Given the description of an element on the screen output the (x, y) to click on. 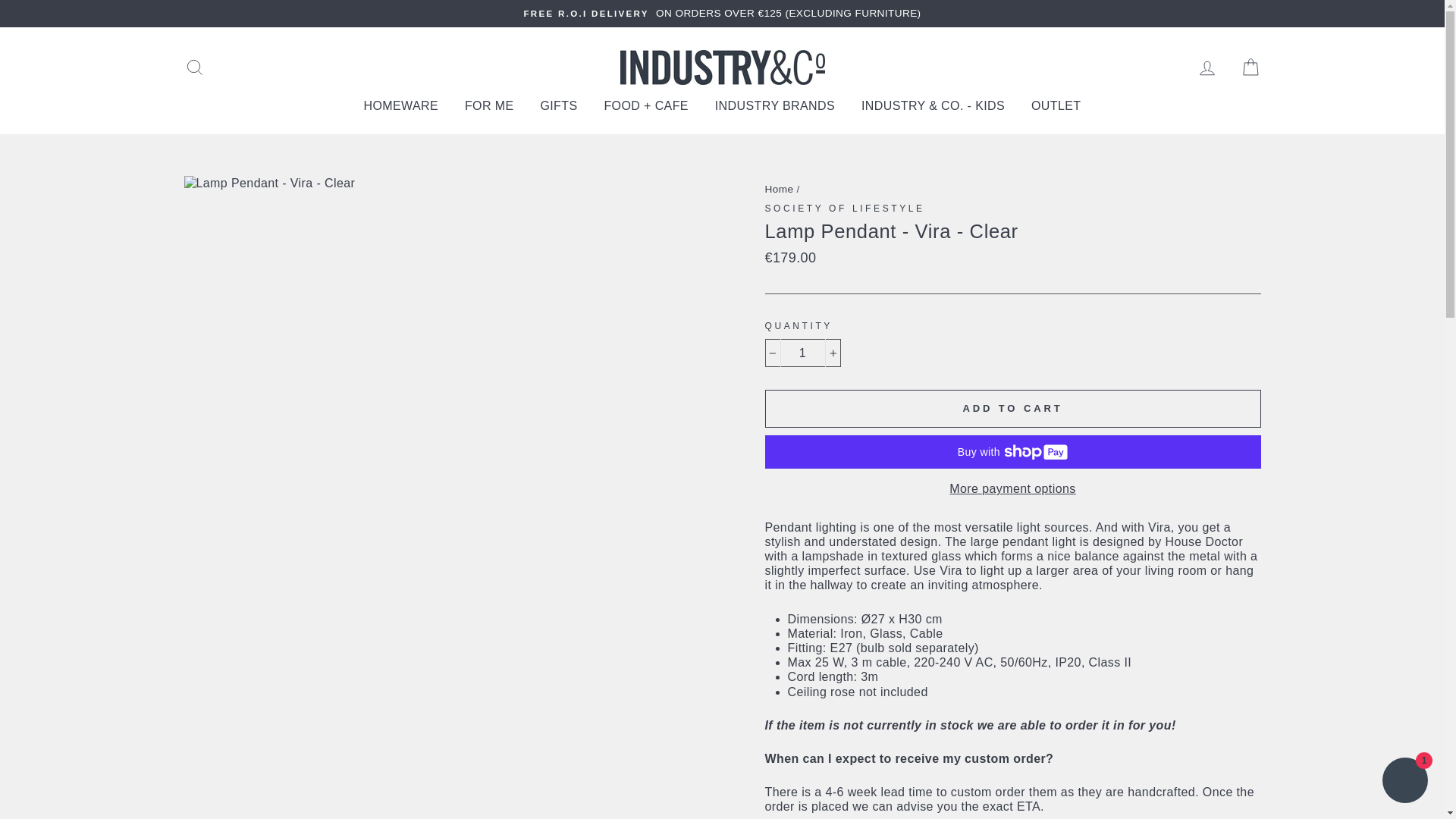
Society Of Lifestyle (844, 208)
Back to the frontpage (778, 188)
1 (802, 352)
Shopify online store chat (1404, 781)
